Given the description of an element on the screen output the (x, y) to click on. 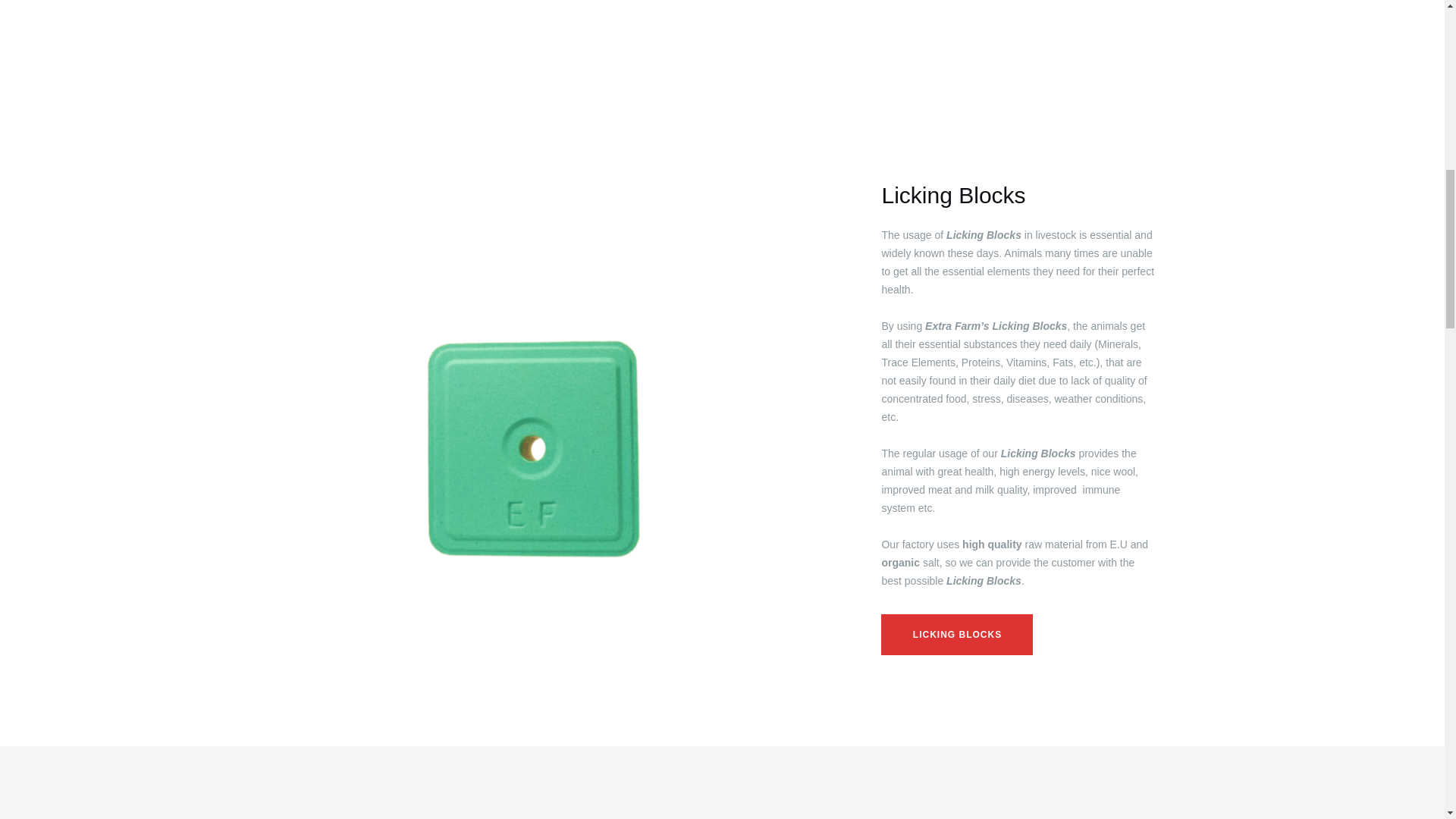
LICKING BLOCKS (956, 634)
